Given the description of an element on the screen output the (x, y) to click on. 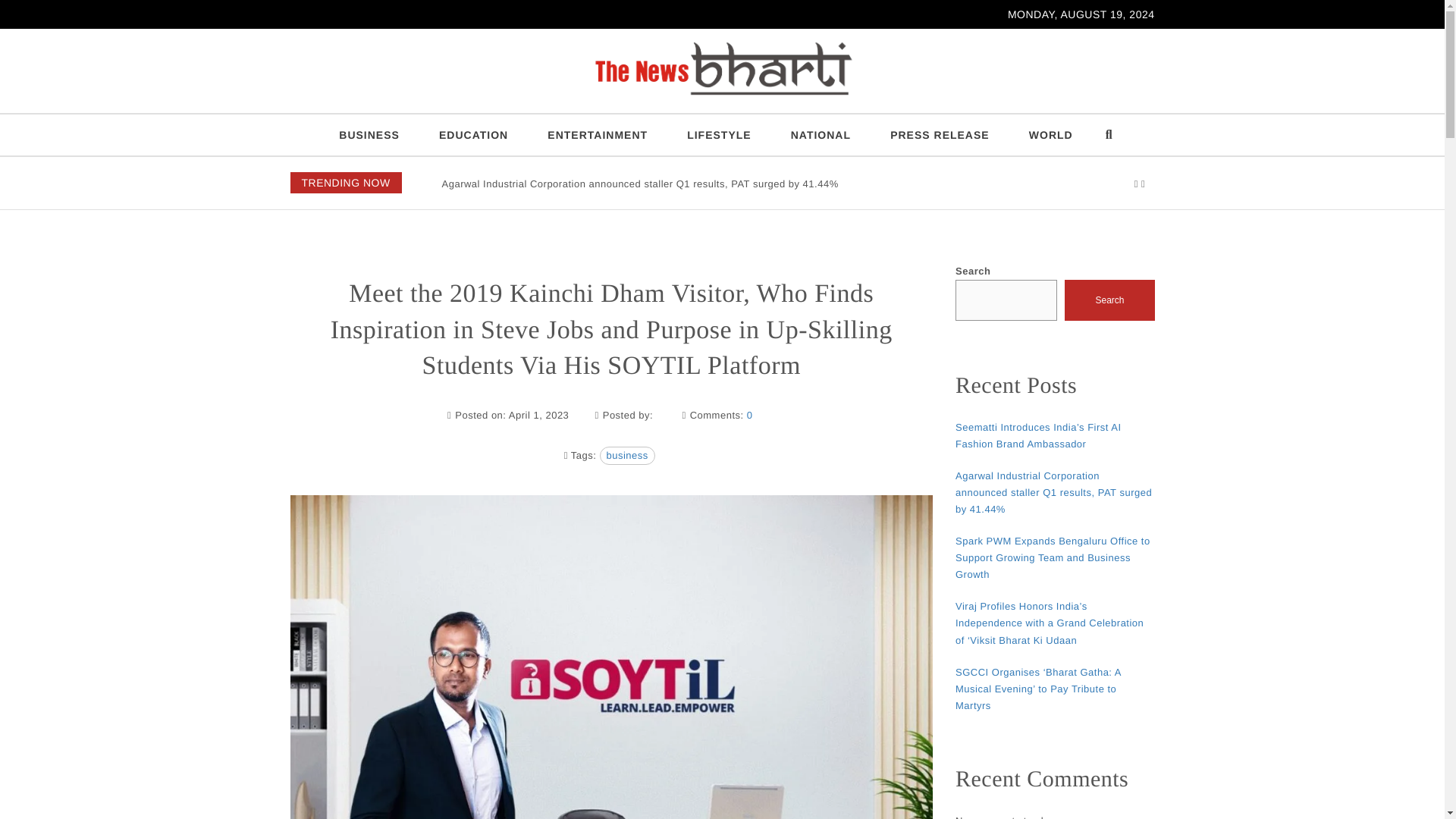
ENTERTAINMENT (597, 134)
WORLD (1050, 134)
business (625, 455)
PRESS RELEASE (939, 134)
The News Bharti (328, 108)
EDUCATION (472, 134)
LIFESTYLE (718, 134)
NATIONAL (821, 134)
